Given the description of an element on the screen output the (x, y) to click on. 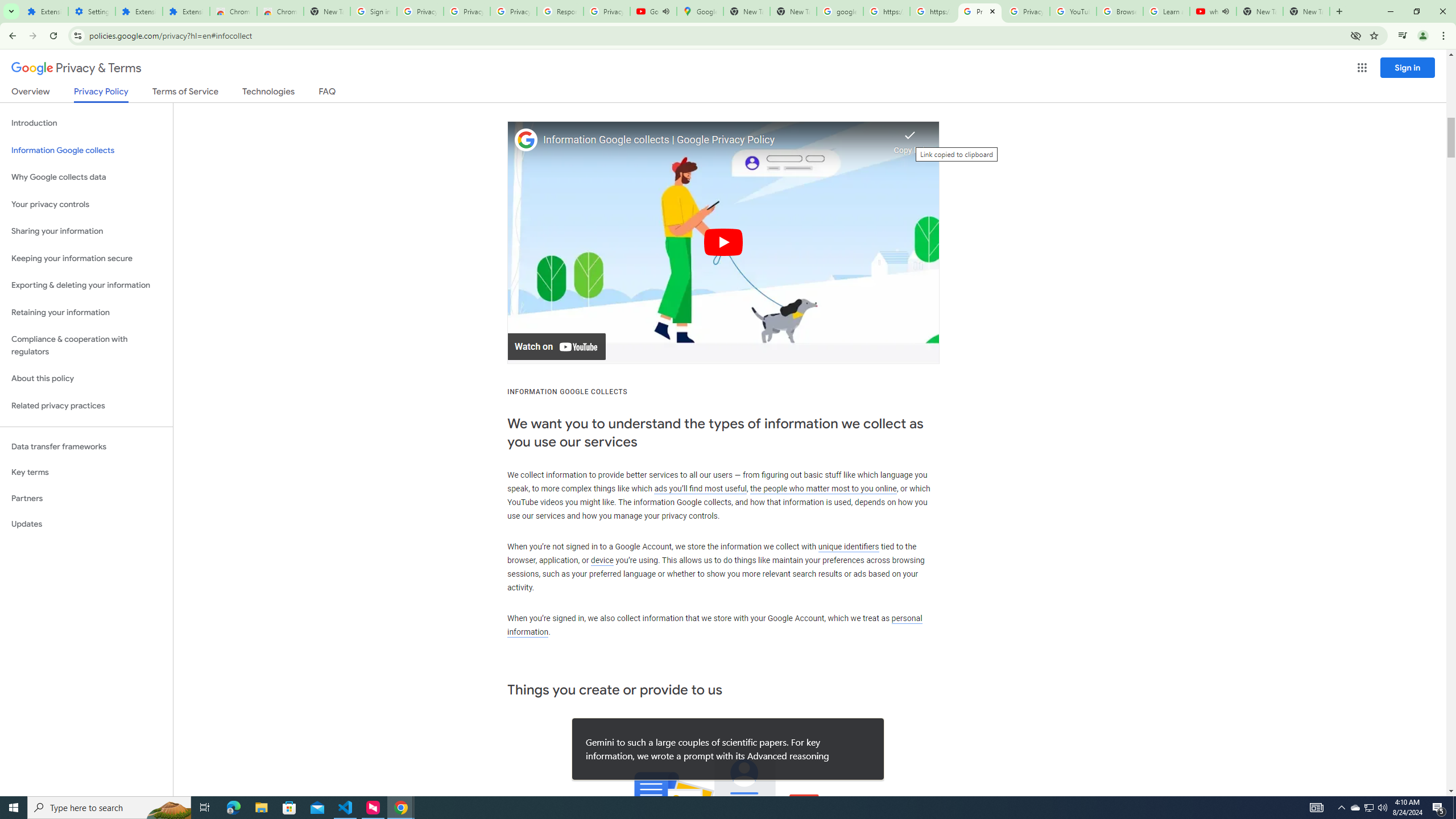
Introduction (86, 122)
